Given the description of an element on the screen output the (x, y) to click on. 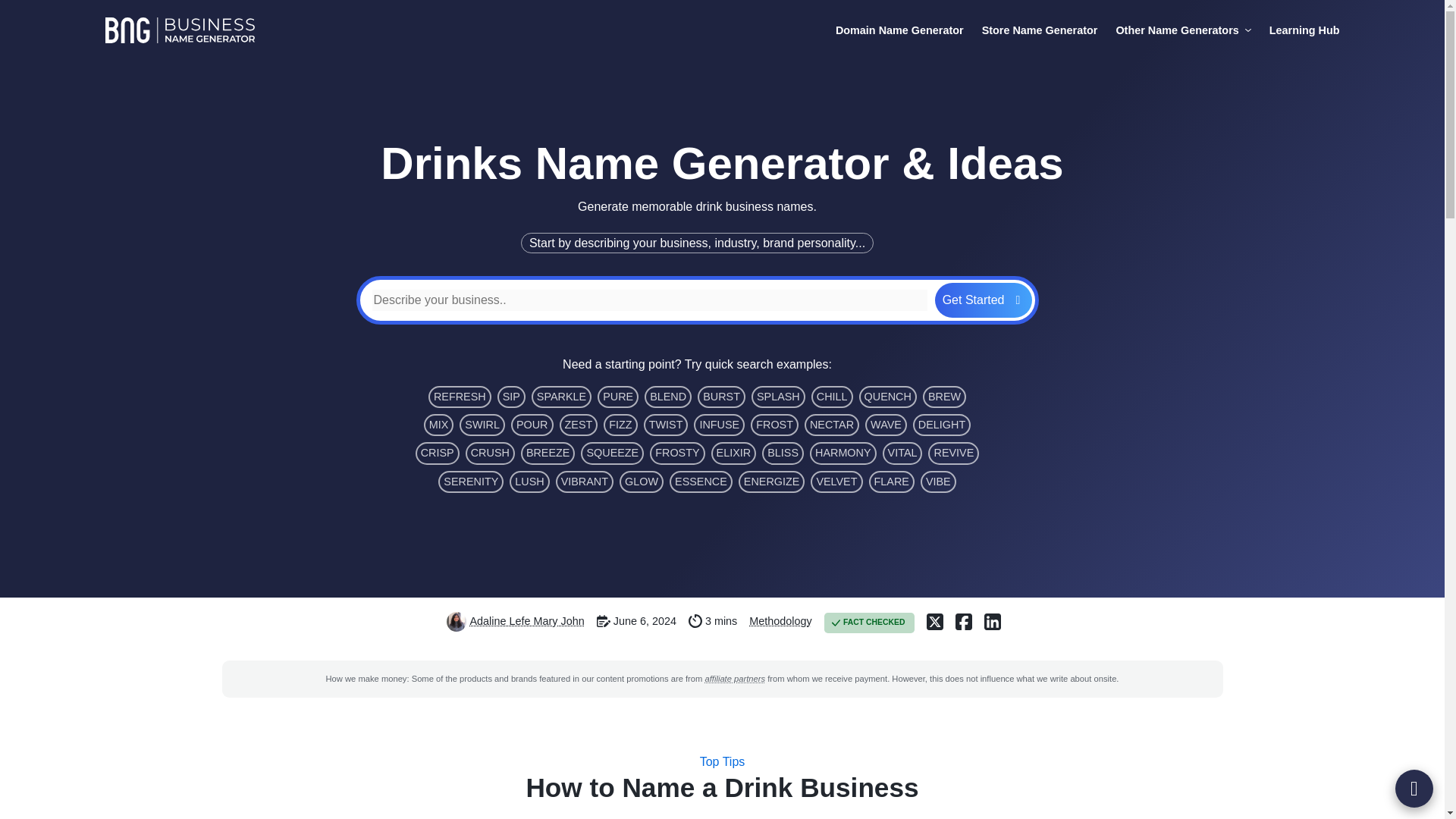
INFUSE (719, 424)
Reading time (694, 621)
ZEST (578, 424)
NECTAR (832, 424)
SIP (511, 396)
PURE (617, 396)
DELIGHT (941, 424)
Get Started (983, 299)
Share on X (934, 621)
SPARKLE (561, 396)
Store Name Generator (1039, 29)
REFRESH (460, 396)
BURST (721, 396)
Domain Name Generator (899, 29)
CRUSH (490, 453)
